Given the description of an element on the screen output the (x, y) to click on. 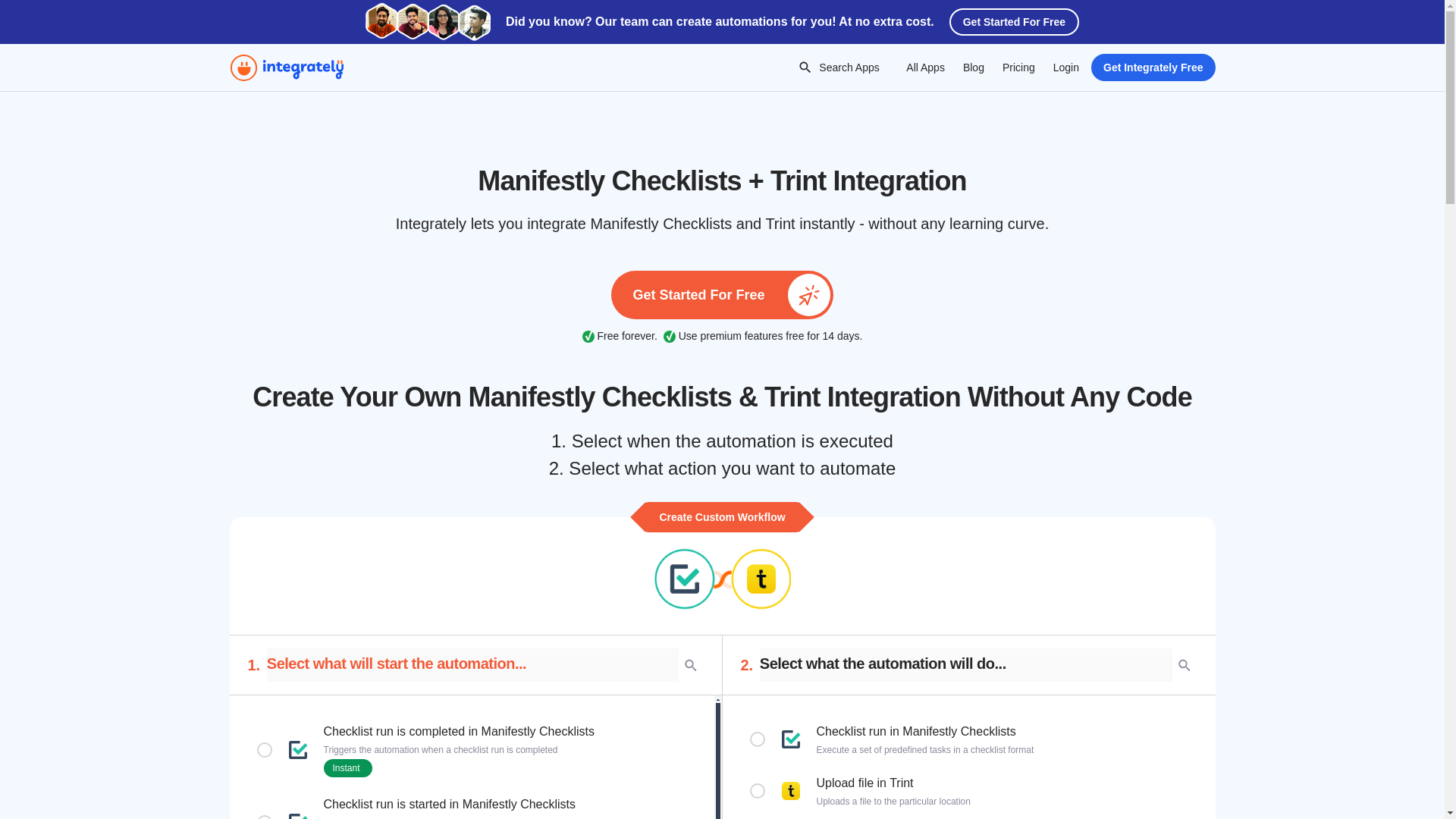
Get Integrately Free (1152, 67)
Get Started For Free (721, 295)
Pricing (1018, 67)
Get Started For Free (1013, 22)
Blog (973, 67)
Login (1065, 67)
All Apps (924, 67)
